Given the description of an element on the screen output the (x, y) to click on. 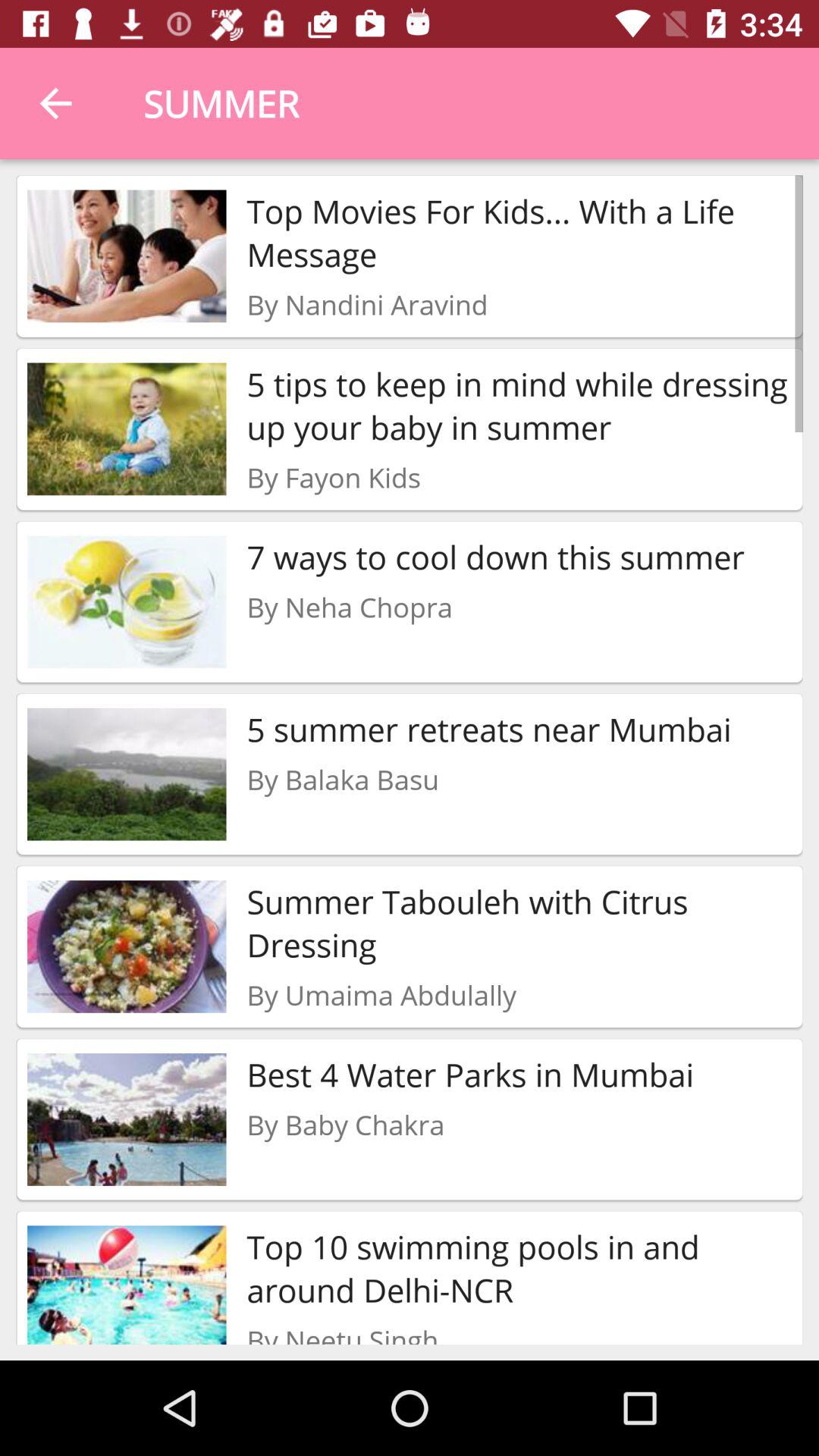
swipe until by neha chopra icon (349, 606)
